Given the description of an element on the screen output the (x, y) to click on. 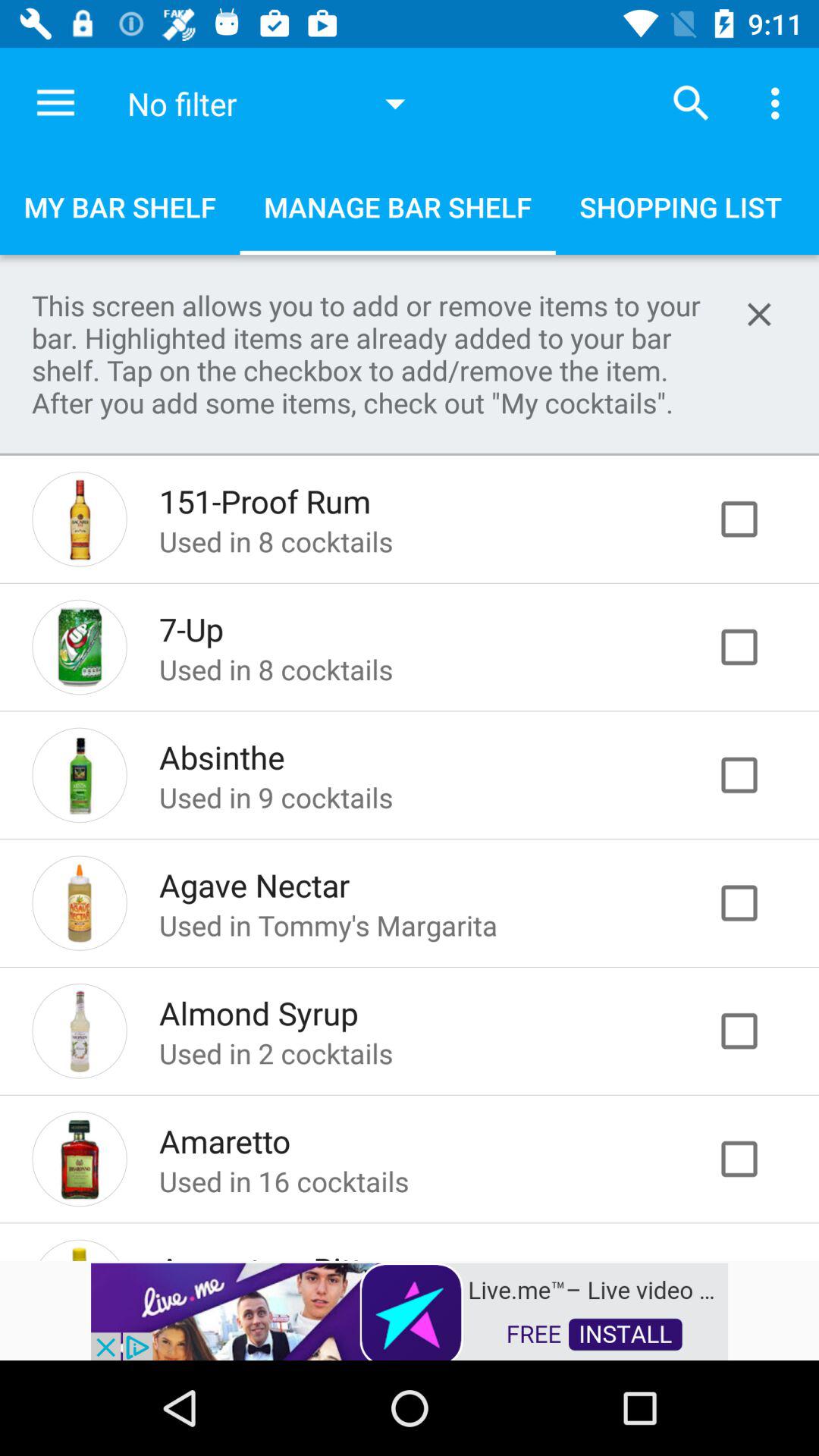
go to checkbox button (755, 774)
